Given the description of an element on the screen output the (x, y) to click on. 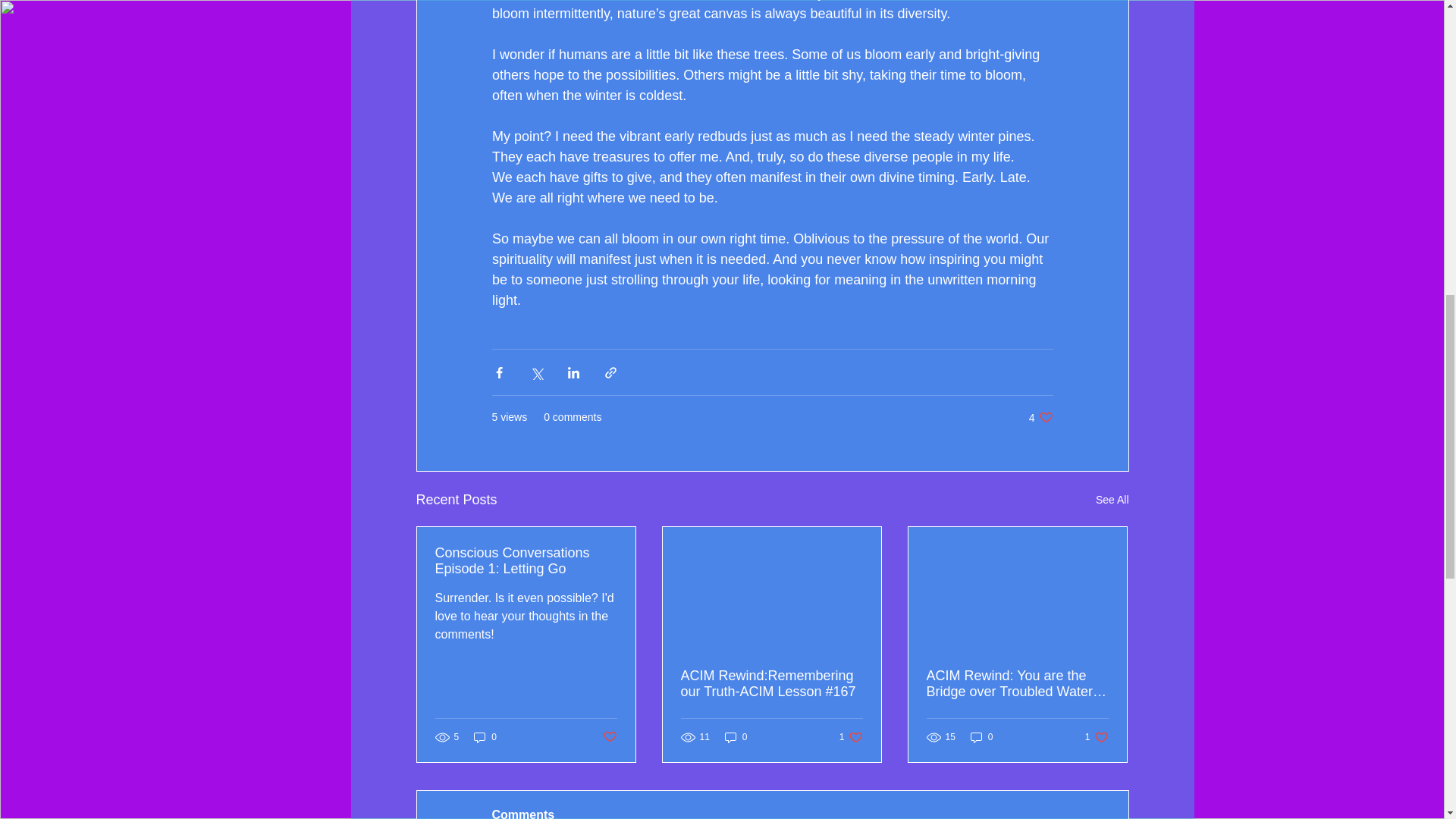
0 (851, 736)
0 (1040, 417)
0 (981, 736)
See All (1096, 736)
Post not marked as liked (484, 736)
Conscious Conversations Episode 1: Letting Go (736, 736)
